Given the description of an element on the screen output the (x, y) to click on. 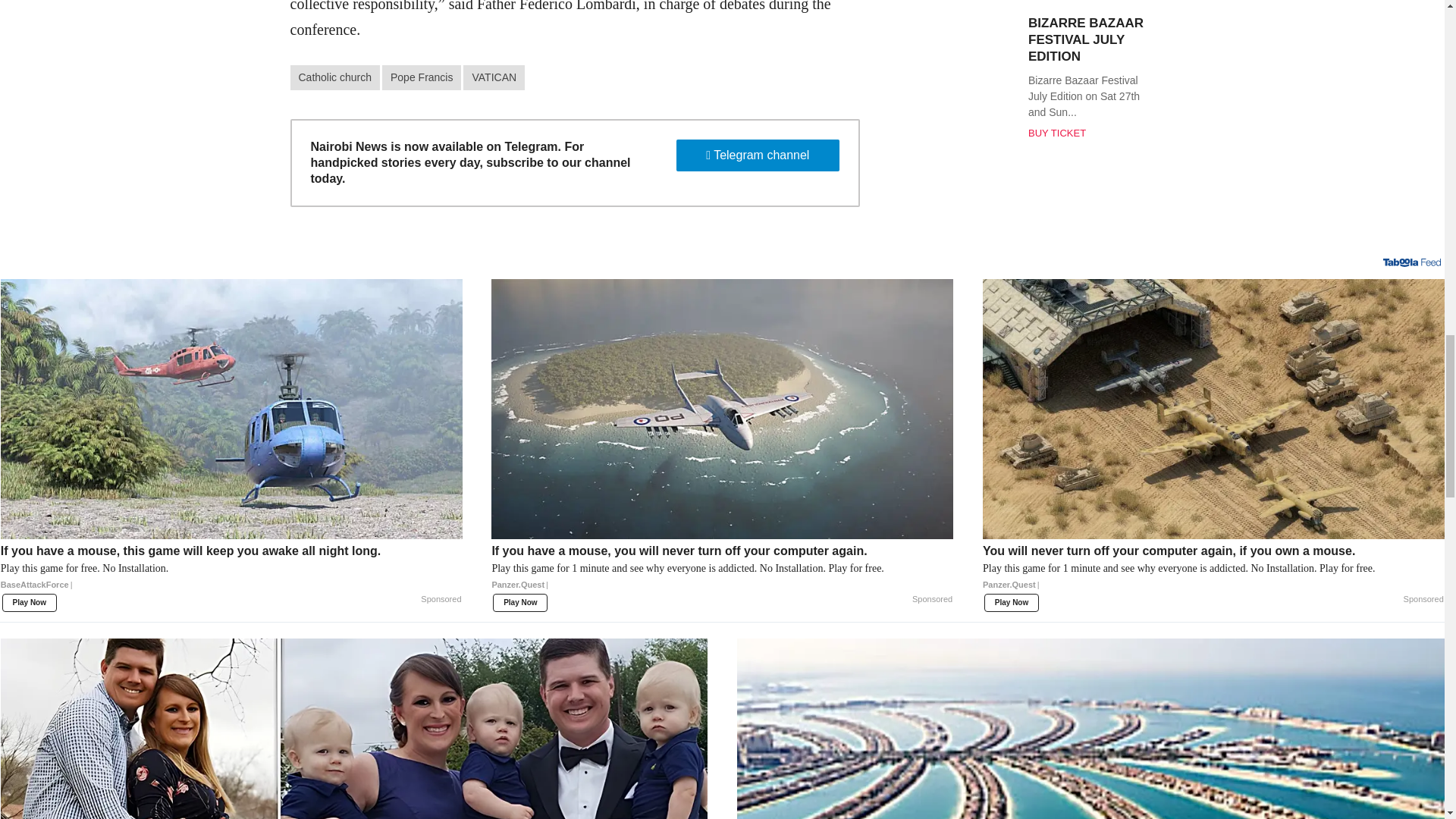
VATICAN (493, 77)
Telegram channel (758, 155)
Pope Francis (421, 77)
Catholic church (334, 77)
